Given the description of an element on the screen output the (x, y) to click on. 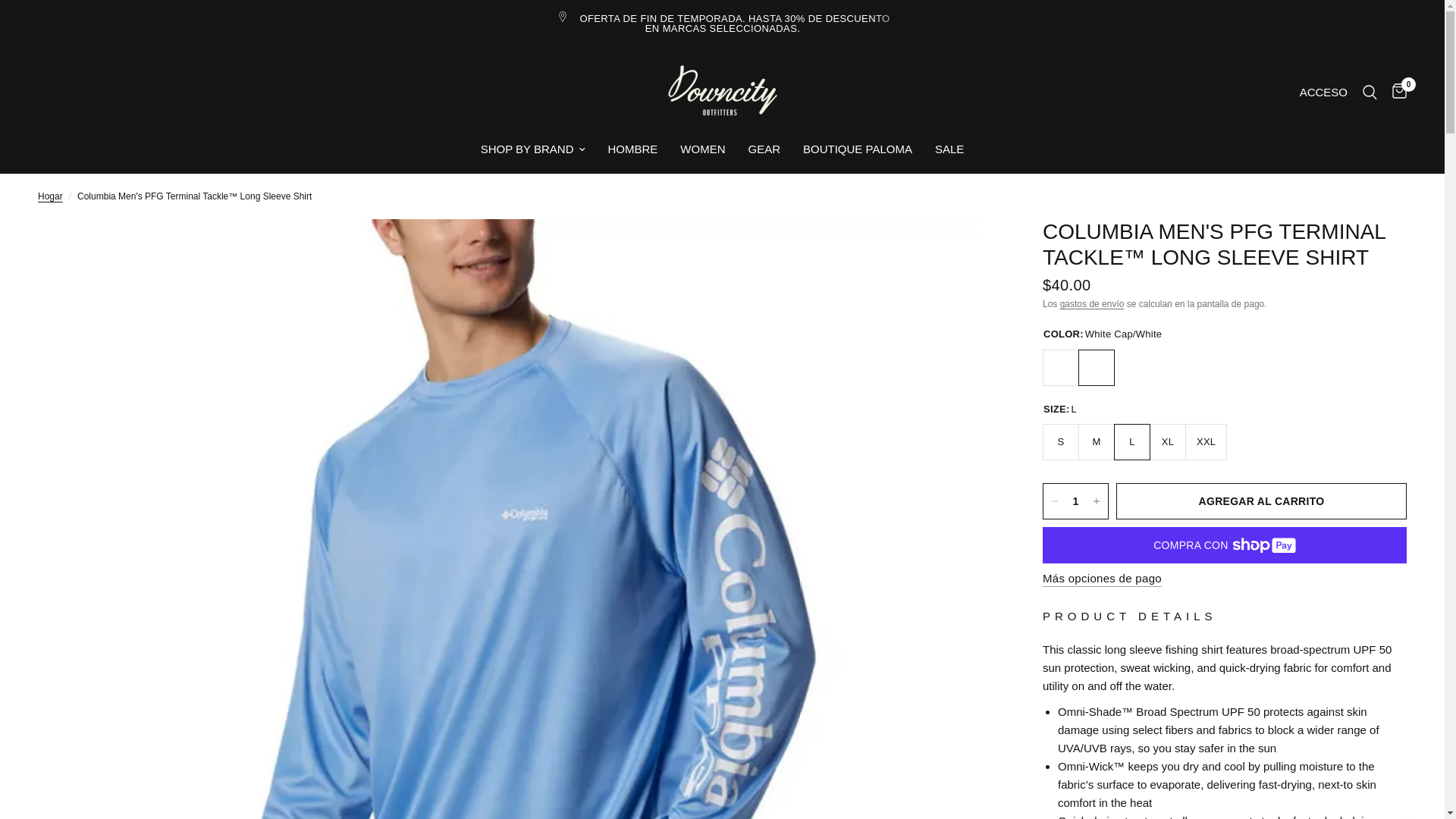
SHOP BY BRAND (532, 149)
